Given the description of an element on the screen output the (x, y) to click on. 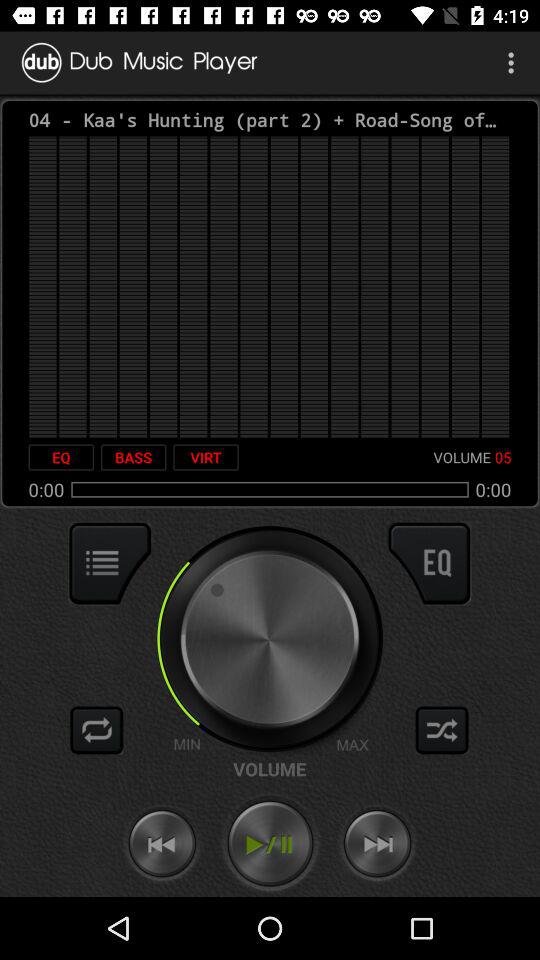
play/pause (269, 844)
